Given the description of an element on the screen output the (x, y) to click on. 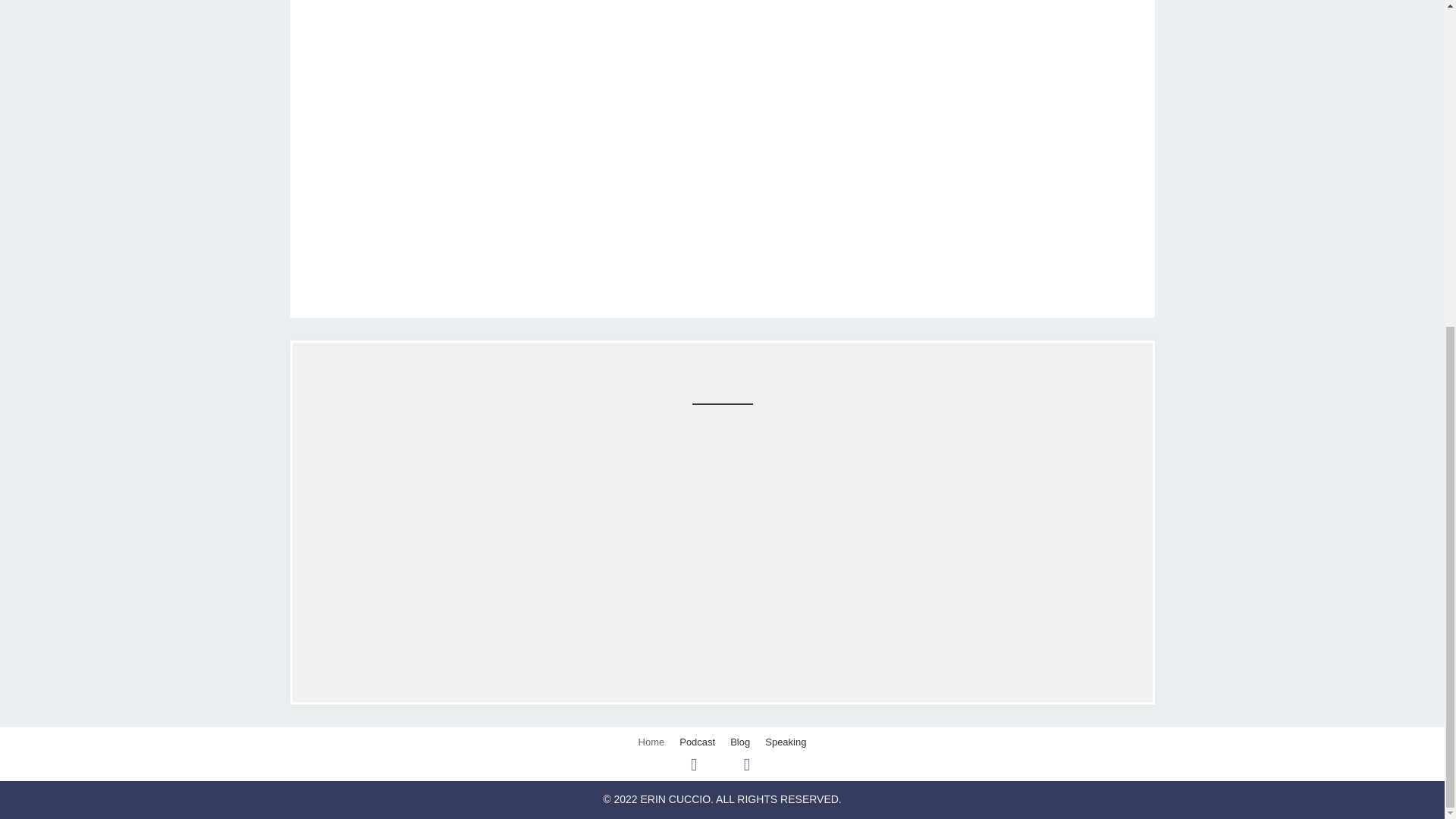
Podcast (696, 742)
Blog (739, 742)
Speaking (785, 742)
Home (651, 742)
